Given the description of an element on the screen output the (x, y) to click on. 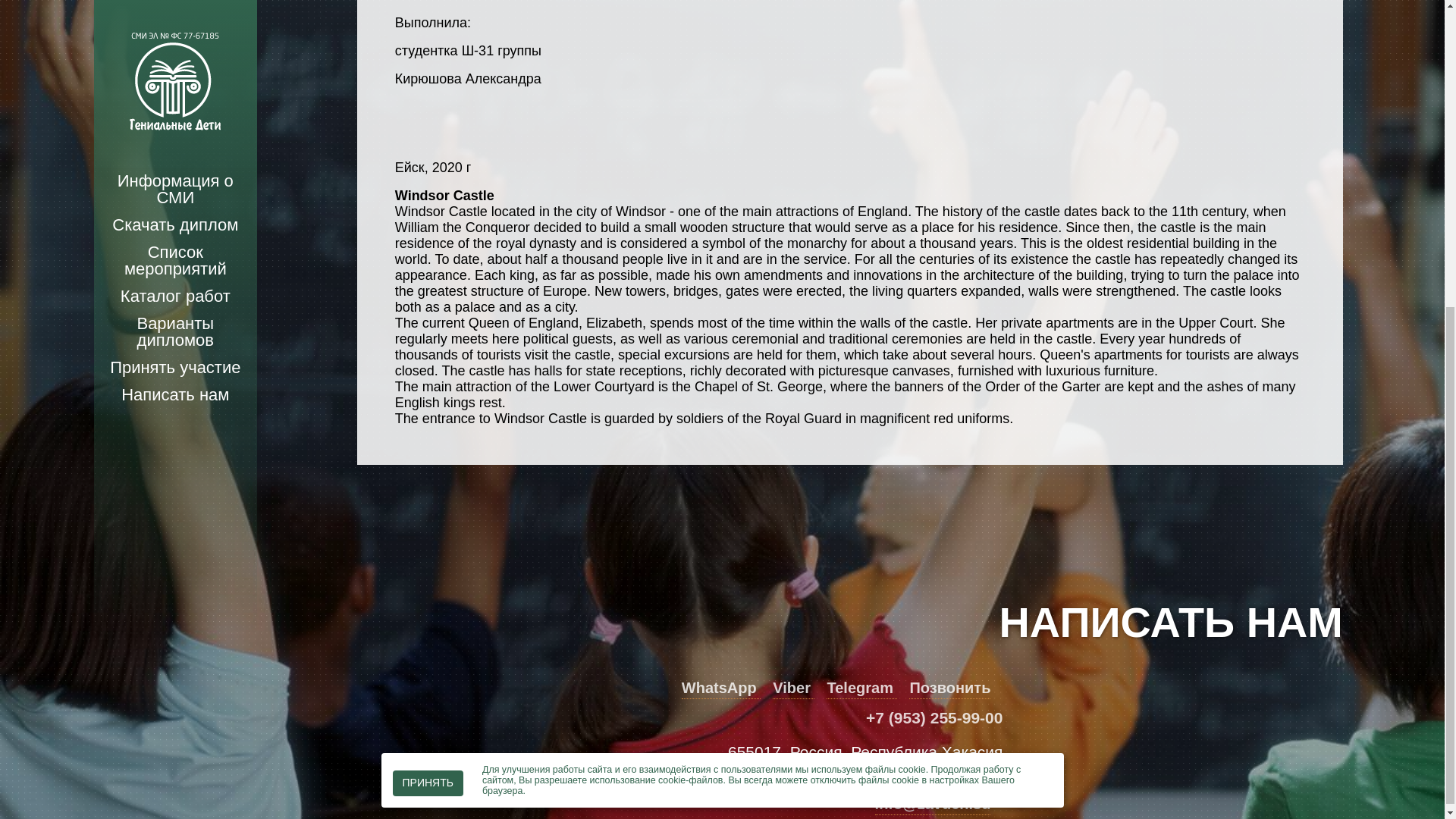
Viber (793, 689)
Telegram (861, 689)
WhatsApp (720, 689)
